Given the description of an element on the screen output the (x, y) to click on. 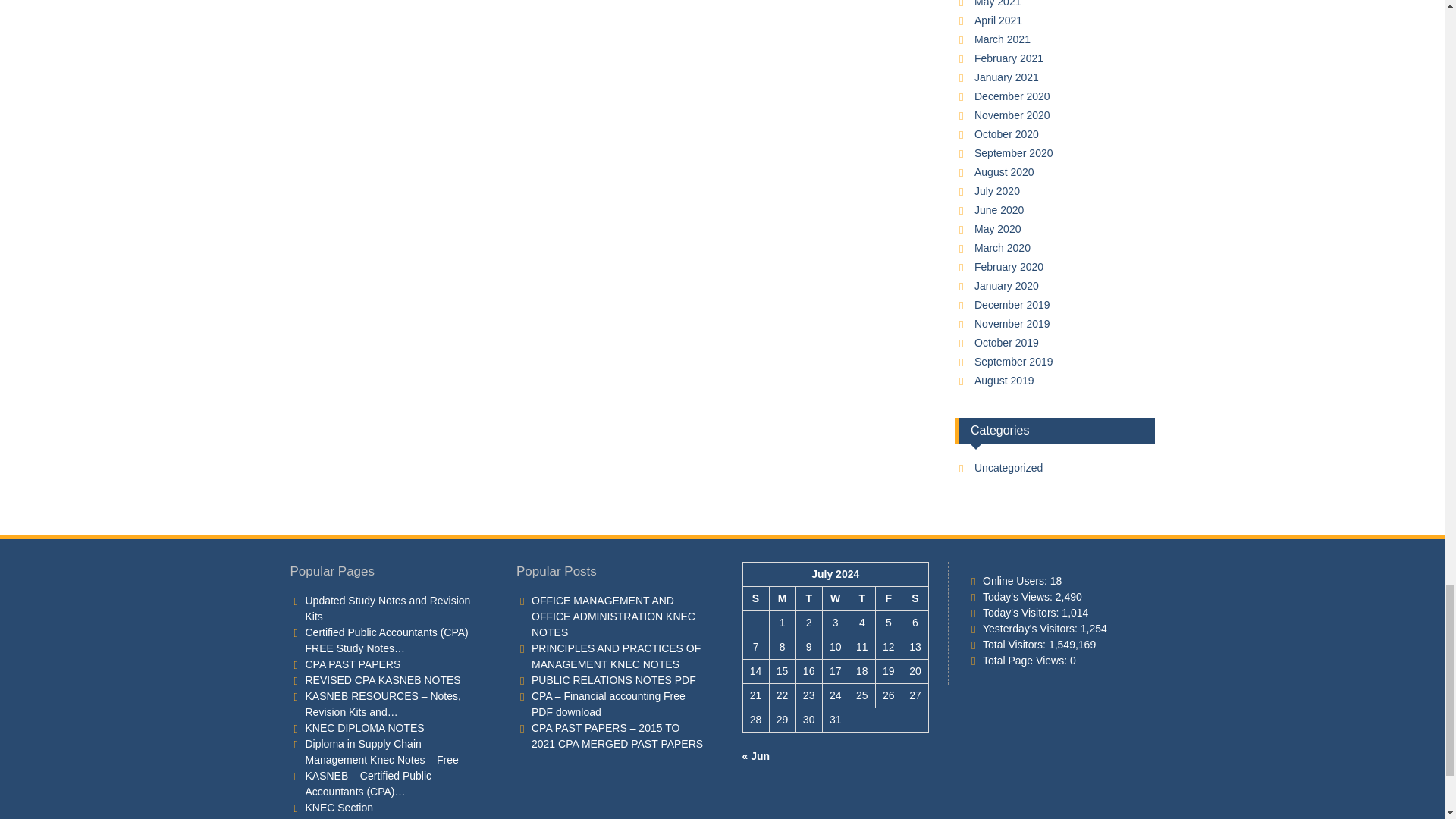
Monday (781, 598)
Tuesday (808, 598)
Sunday (755, 598)
Friday (888, 598)
Wednesday (835, 598)
Thursday (861, 598)
Saturday (914, 598)
